Given the description of an element on the screen output the (x, y) to click on. 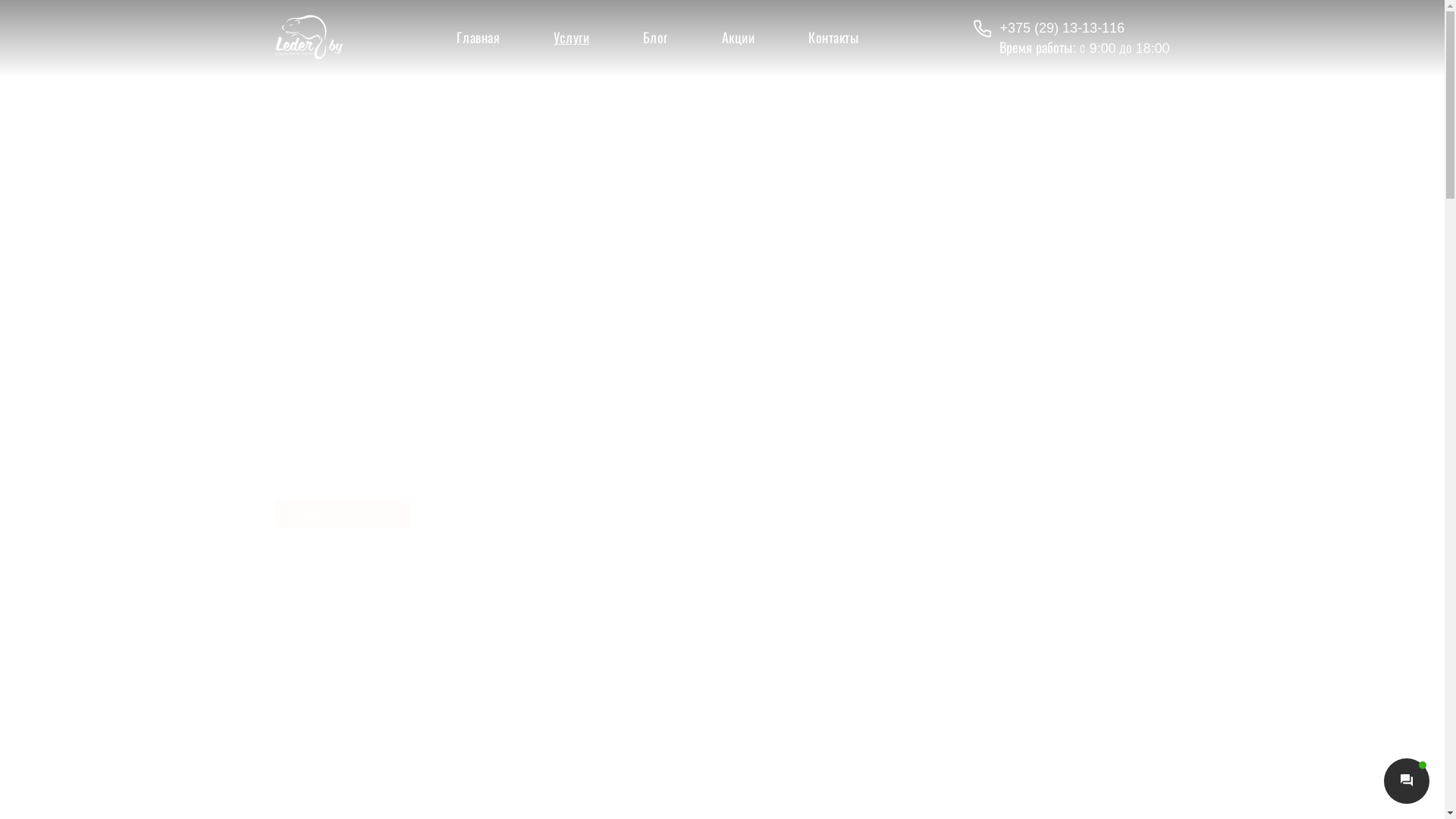
+375 (29) 13-13-116 Element type: text (1070, 28)
